Given the description of an element on the screen output the (x, y) to click on. 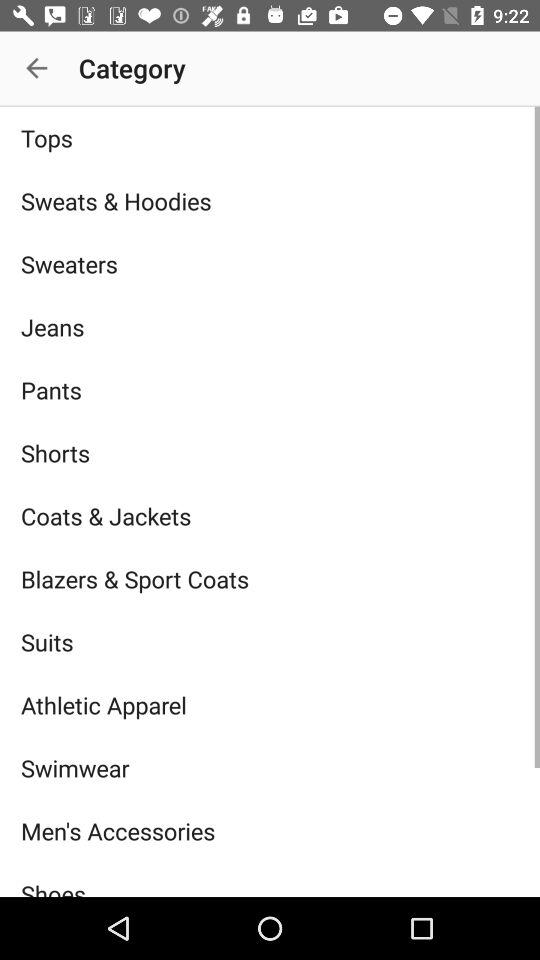
flip until the shorts item (270, 452)
